Given the description of an element on the screen output the (x, y) to click on. 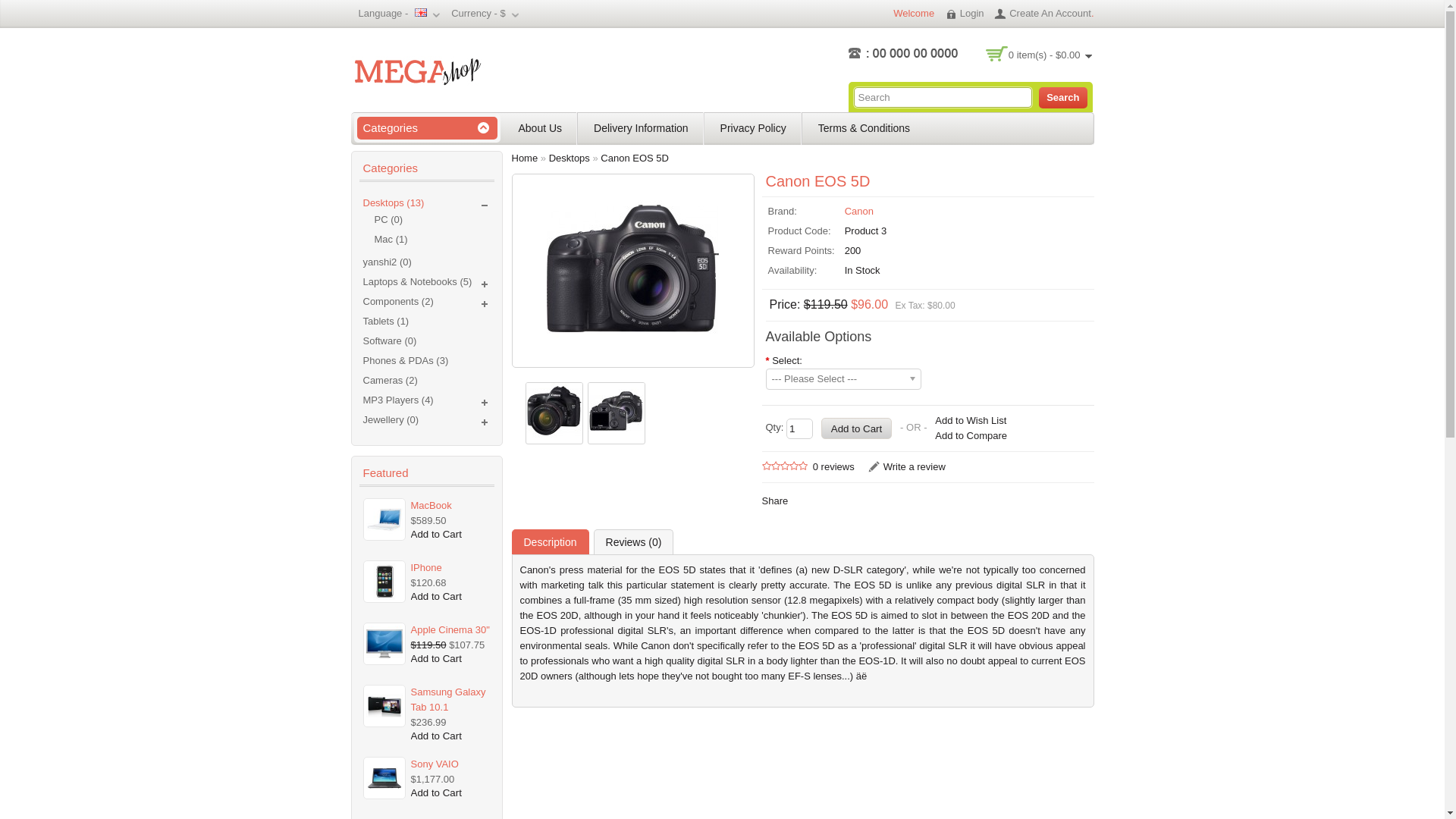
Samsung Galaxy Tab 10.1 Element type: text (449, 699)
Software (0) Element type: text (389, 340)
Tablets (1) Element type: text (385, 320)
Phones & PDAs (3) Element type: text (405, 360)
Terms & Conditions Element type: text (863, 128)
Desktops Element type: text (569, 157)
About Us Element type: text (540, 128)
Add to Wish List Element type: text (971, 420)
Add to Cart Element type: text (436, 596)
Canon EOS 5D Element type: hover (554, 412)
Canon Element type: text (858, 210)
Mac (1) Element type: text (432, 239)
Laptops & Notebooks (5) Element type: text (416, 281)
Delivery Information Element type: text (641, 128)
Add to Cart Element type: text (436, 735)
MP3 Players (4) Element type: text (397, 399)
Add to Cart Element type: text (436, 658)
Add to Cart Element type: text (436, 792)
Home Element type: text (524, 157)
PC (0) Element type: text (432, 219)
Canon EOS 5D Element type: text (634, 157)
Privacy Policy Element type: text (752, 128)
Reviews (0) Element type: text (633, 541)
Login Element type: text (964, 12)
Add to Cart Element type: text (436, 533)
Share Element type: text (774, 500)
Canon EOS 5D Element type: hover (554, 410)
Canon EOS 5D Element type: hover (616, 412)
Jewellery (0) Element type: text (390, 419)
Add to Compare Element type: text (971, 435)
Apple Cinema 30" Element type: text (449, 629)
MacBook Element type: text (449, 505)
Description Element type: text (549, 541)
Canon EOS 5D Element type: hover (616, 410)
Canon EOS 5D Element type: hover (632, 268)
$ Element type: text (502, 12)
Write a review Element type: text (906, 466)
Create An Account Element type: text (1042, 12)
0 reviews Element type: text (833, 466)
0 item(s) - $0.00 Element type: text (1050, 54)
yanshi2 (0) Element type: text (386, 261)
Cameras (2) Element type: text (389, 379)
IPhone Element type: text (449, 567)
Sony VAIO Element type: text (449, 763)
Components (2) Element type: text (397, 301)
Desktops (13) Element type: text (392, 202)
